Given the description of an element on the screen output the (x, y) to click on. 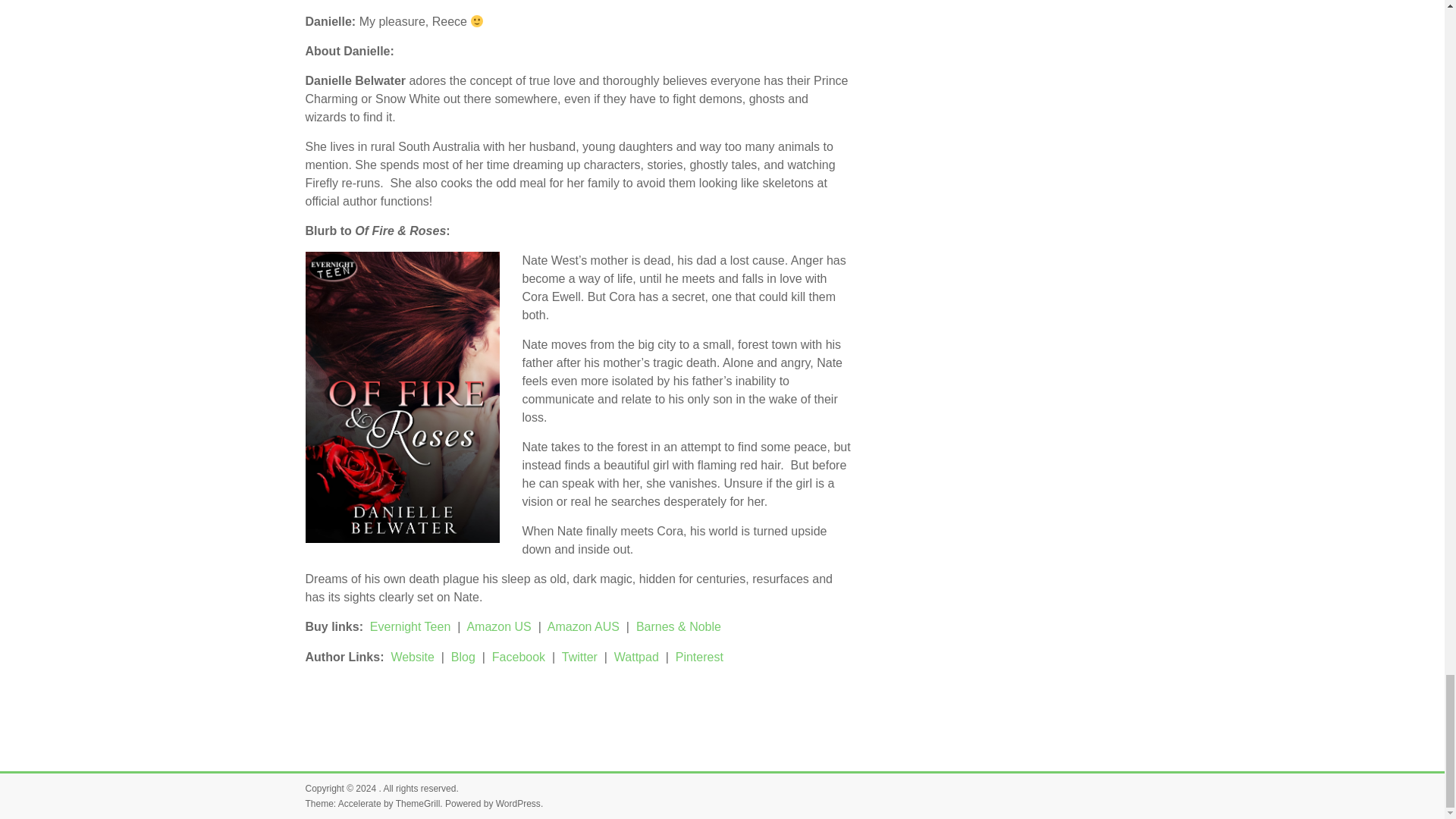
WordPress (518, 803)
Accelerate (359, 803)
